Given the description of an element on the screen output the (x, y) to click on. 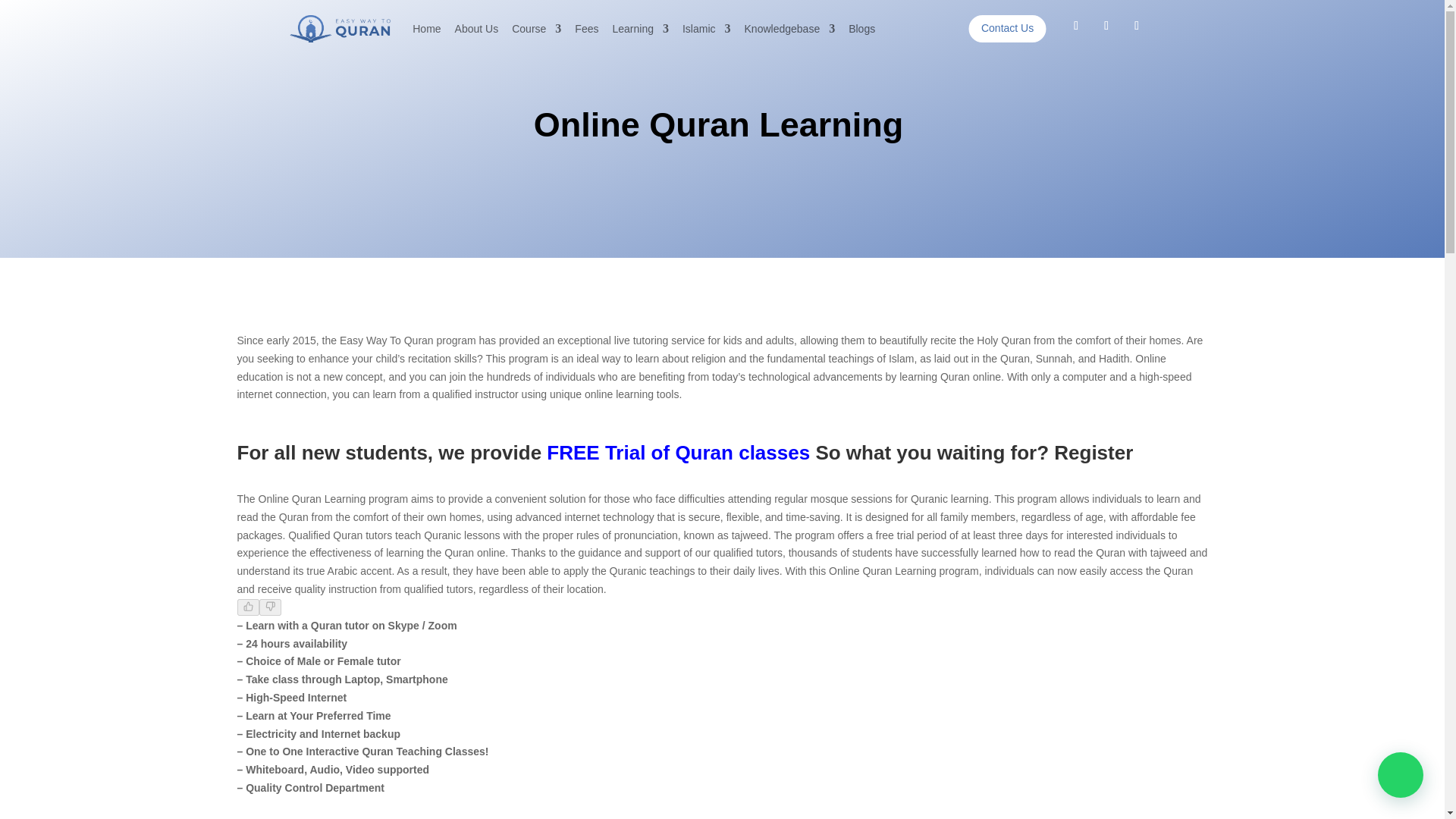
Follow on Facebook (1075, 25)
Follow on X (1106, 25)
Learning (639, 28)
Follow on Instagram (1136, 25)
